Given the description of an element on the screen output the (x, y) to click on. 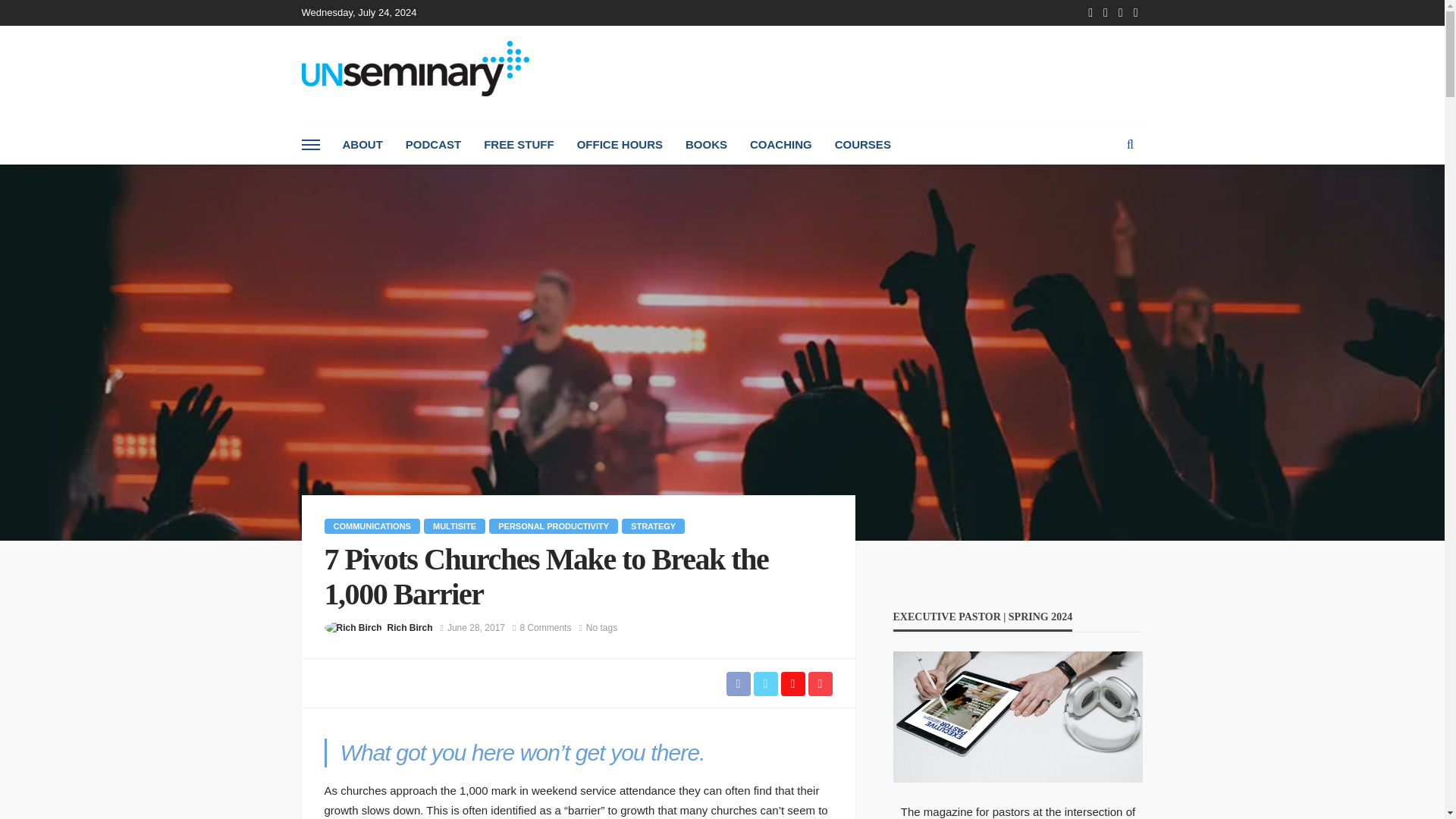
PERSONAL PRODUCTIVITY (553, 525)
COACHING (781, 144)
strategy (652, 525)
BOOKS (706, 144)
FREE STUFF (518, 144)
communications (372, 525)
8 Comments (544, 627)
7 Pivots Churches Make to Break the 1,000 Barrier (544, 627)
personal productivity (553, 525)
MULTISITE (453, 525)
PODCAST (432, 144)
COURSES (863, 144)
Rich Birch (409, 627)
multisite (453, 525)
ABOUT (361, 144)
